Given the description of an element on the screen output the (x, y) to click on. 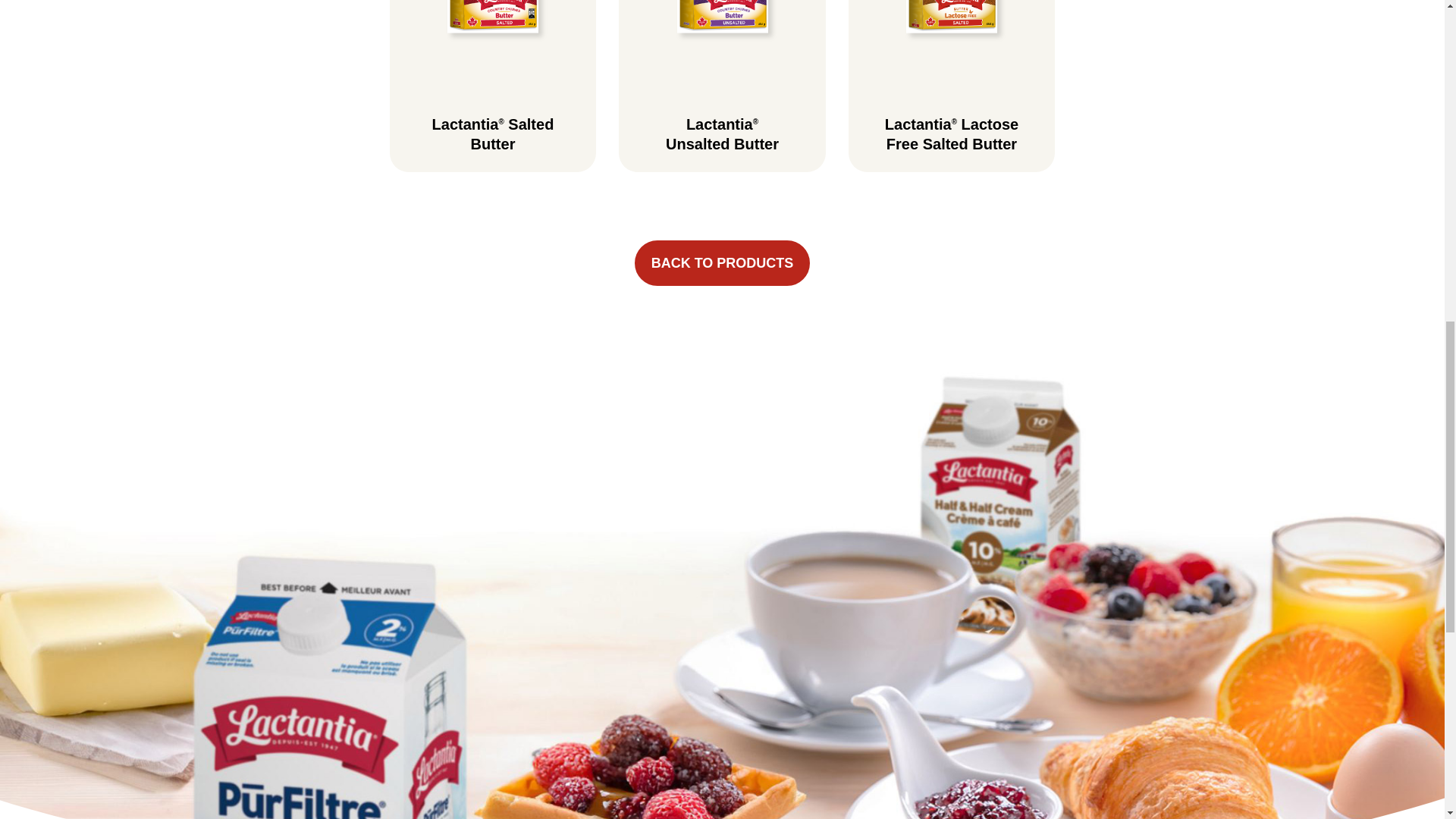
BACK TO PRODUCTS (722, 262)
